Given the description of an element on the screen output the (x, y) to click on. 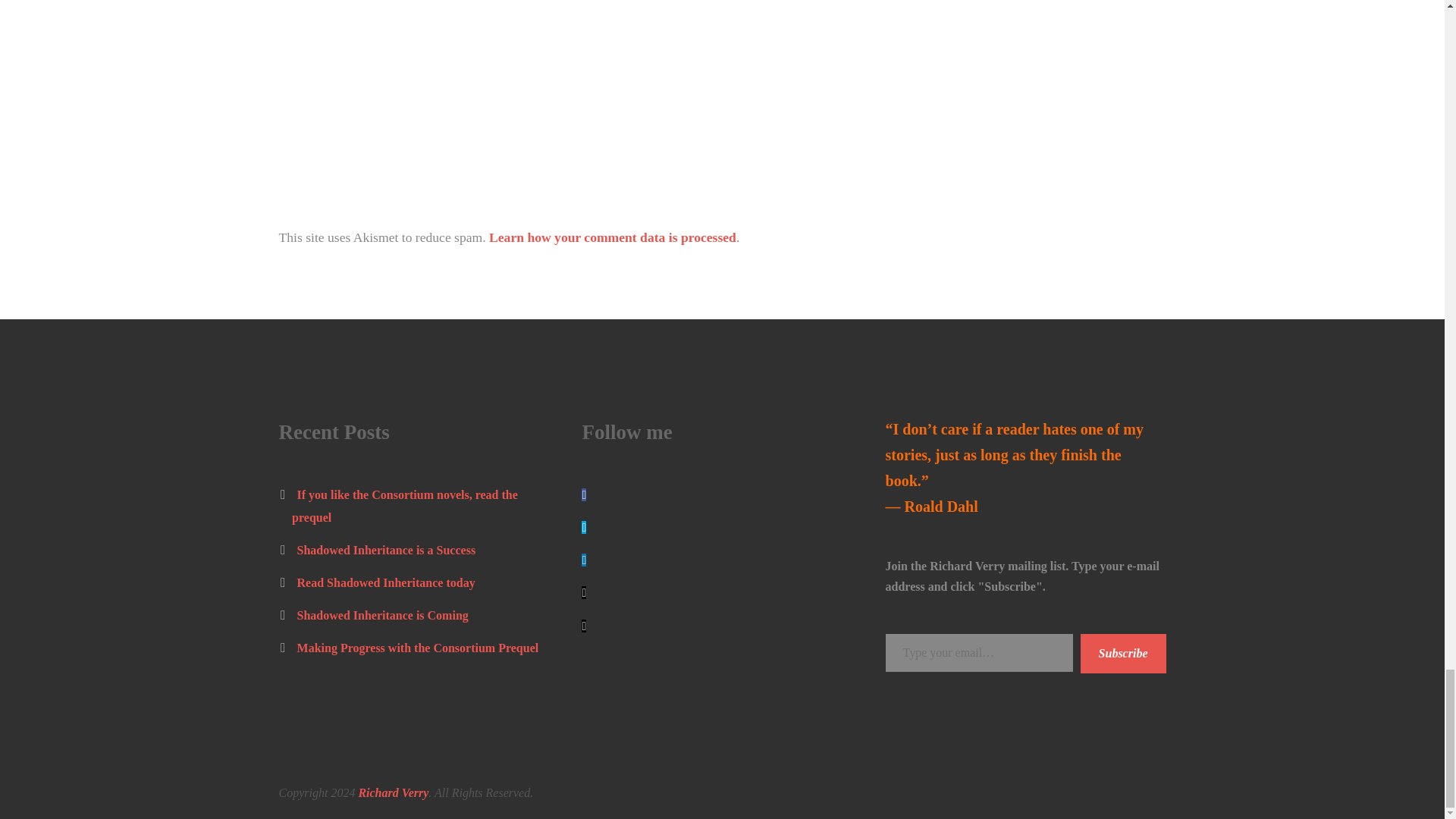
Please fill in this field. (979, 652)
Comment Form (571, 92)
